Given the description of an element on the screen output the (x, y) to click on. 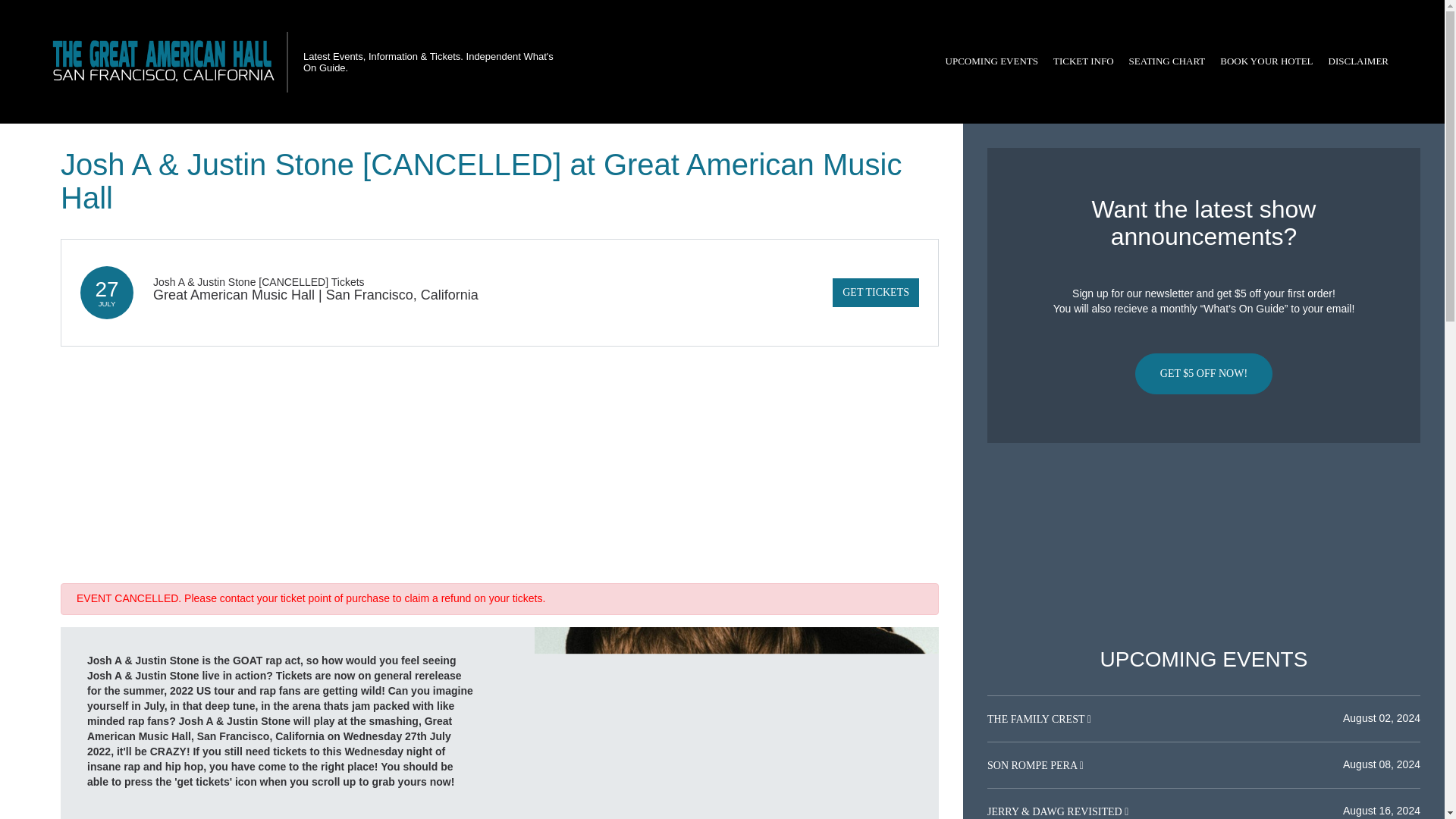
SEATING CHART (1166, 61)
UPCOMING EVENTS (991, 61)
DISCLAIMER (1358, 61)
TICKET INFO (1083, 61)
GET TICKETS (875, 292)
BOOK YOUR HOTEL (1266, 61)
